Given the description of an element on the screen output the (x, y) to click on. 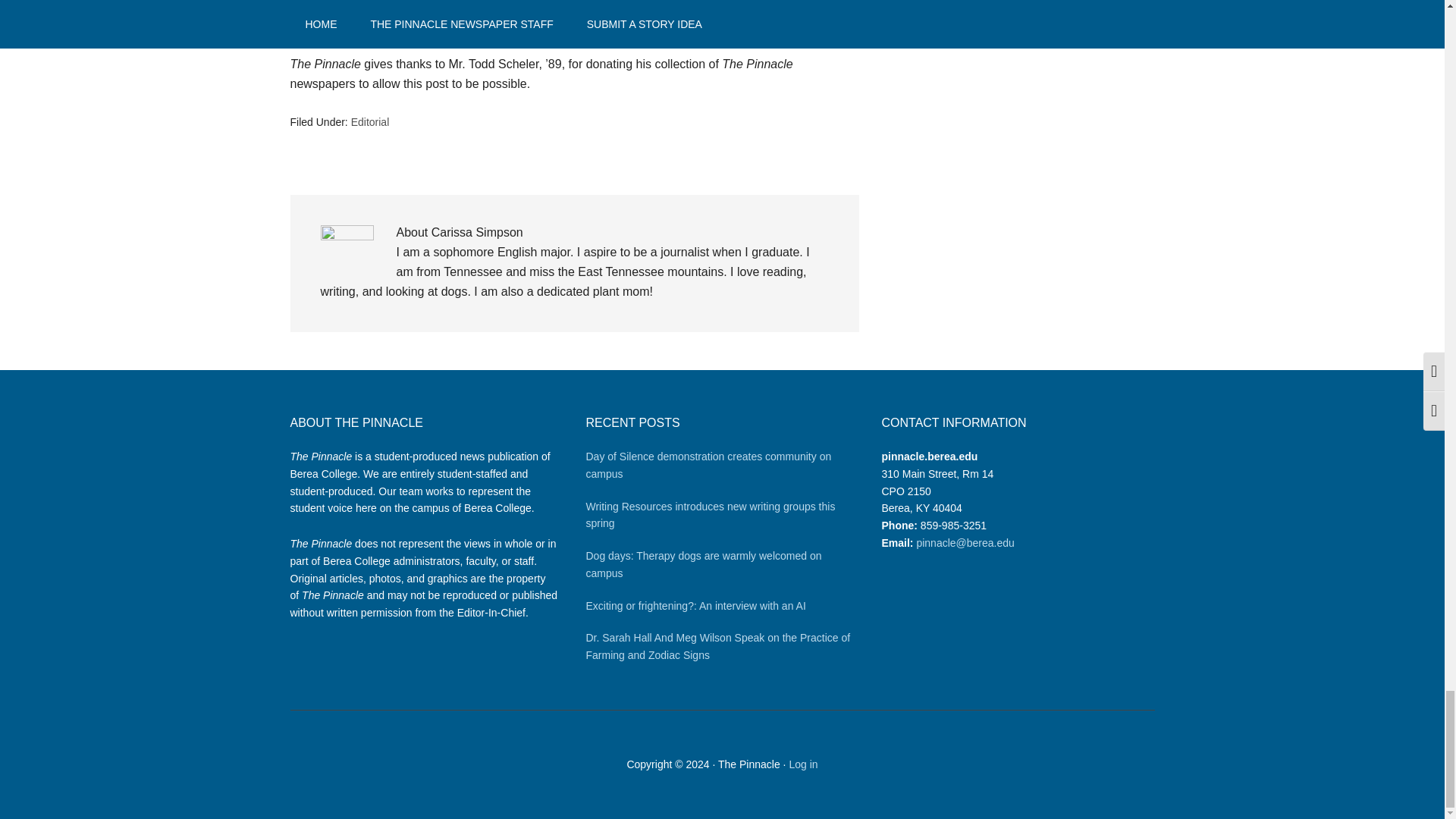
Editorial (370, 121)
